Given the description of an element on the screen output the (x, y) to click on. 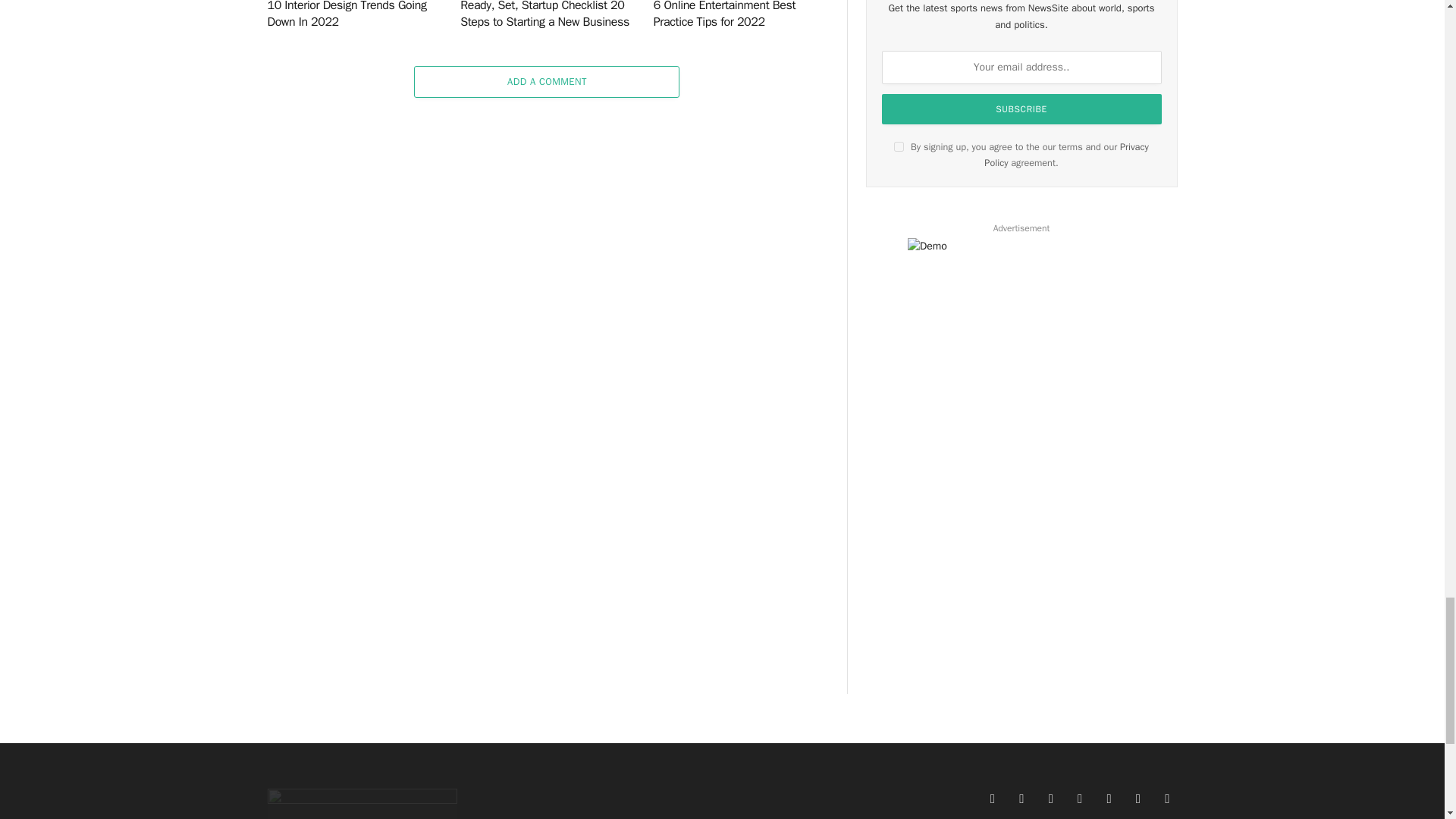
on (898, 146)
Subscribe (1021, 109)
